Given the description of an element on the screen output the (x, y) to click on. 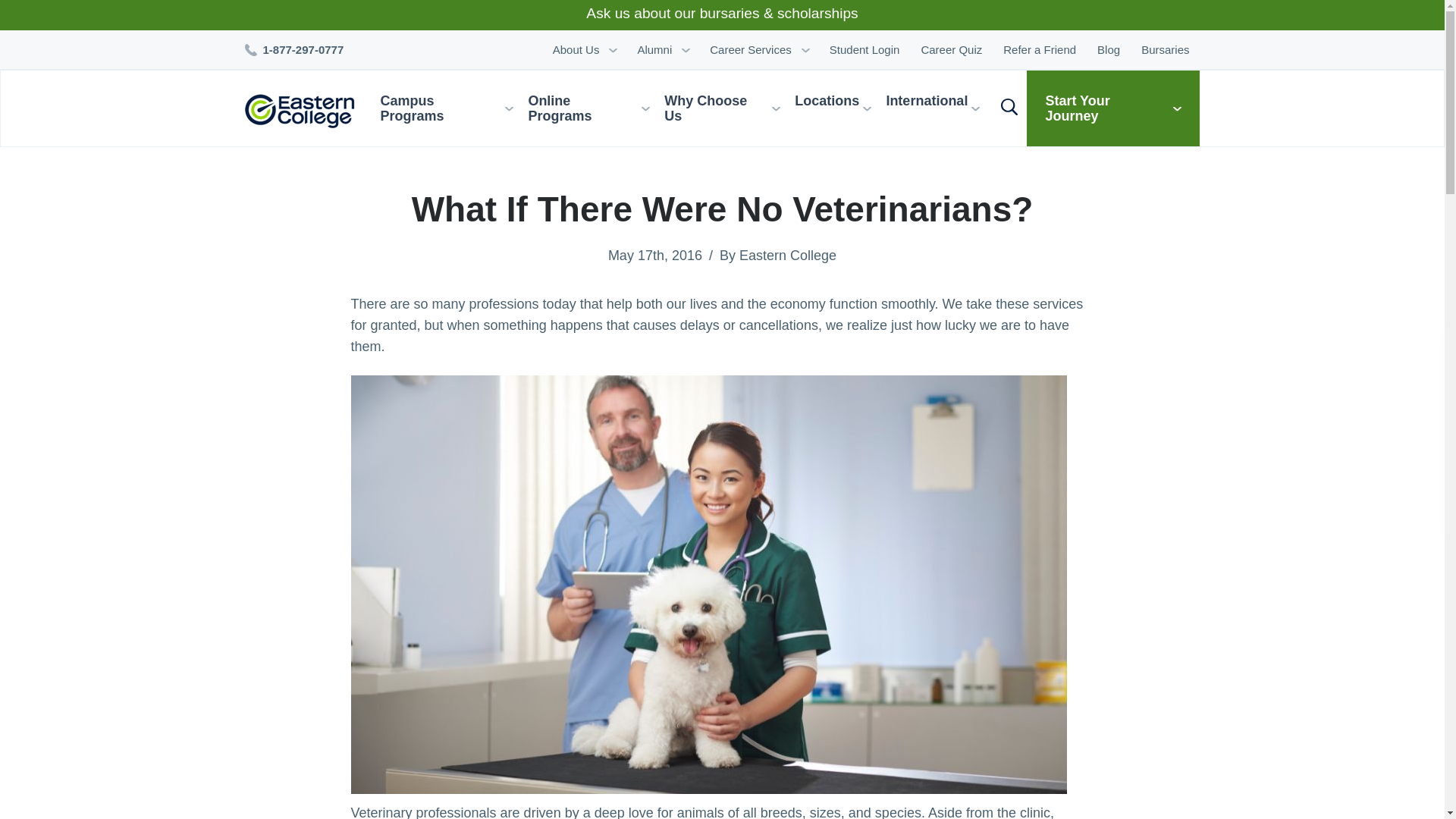
Online Programs (593, 108)
Phone Number (299, 49)
Eastern College home page (304, 111)
Campus Programs (451, 108)
